Given the description of an element on the screen output the (x, y) to click on. 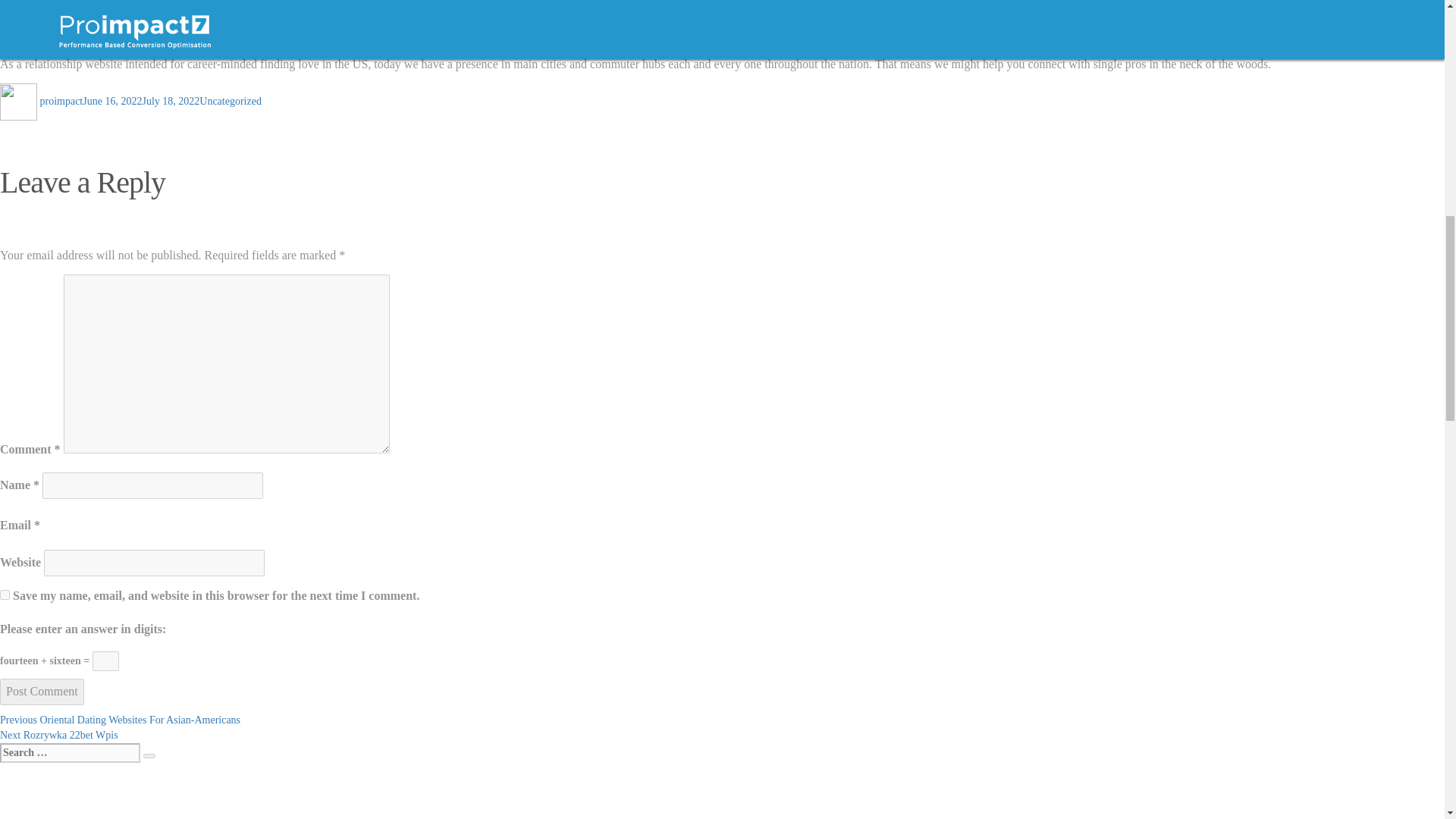
yes (5, 594)
Uncategorized (230, 101)
June 16, 2022July 18, 2022 (140, 101)
Post Comment (42, 691)
Post Comment (42, 691)
Search (58, 735)
proimpact (148, 755)
